Given the description of an element on the screen output the (x, y) to click on. 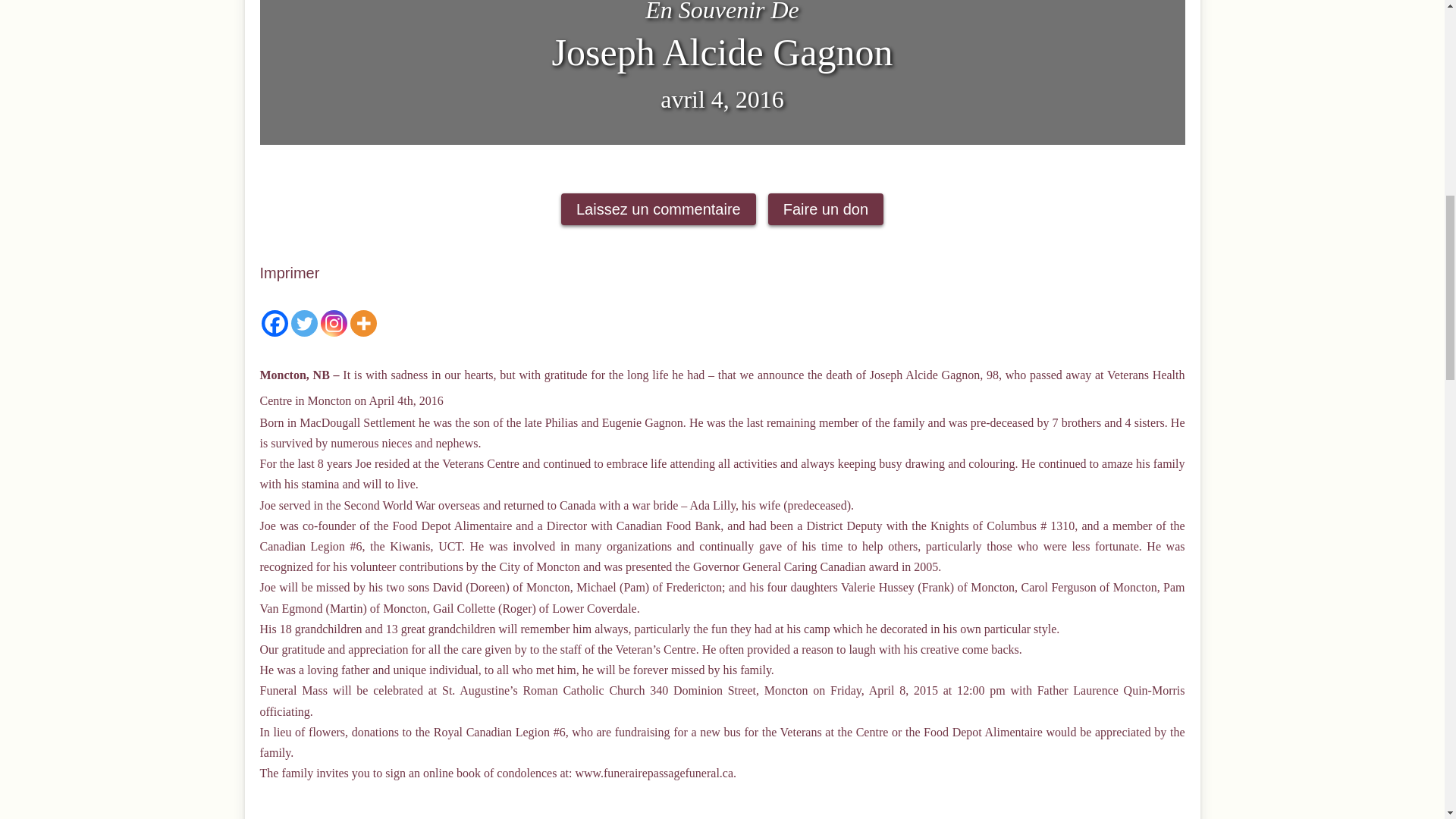
More (363, 323)
Instagram (333, 323)
Faire un don (825, 209)
Facebook (273, 323)
Laissez un commentaire (657, 209)
Twitter (304, 323)
